Given the description of an element on the screen output the (x, y) to click on. 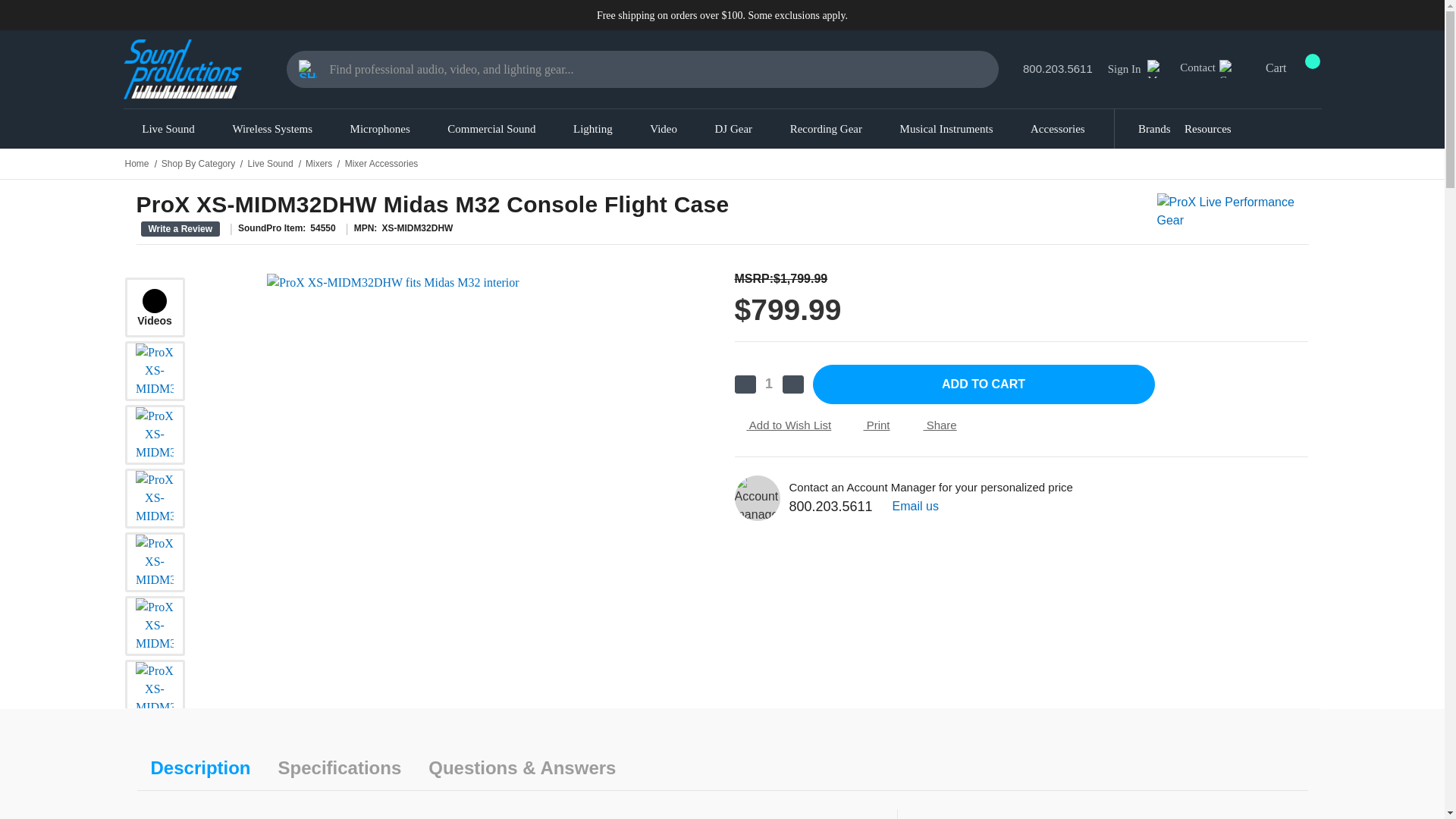
My Account (1155, 68)
Shopping Cart (307, 68)
SEARCH (307, 68)
Contact SoundPro (1228, 68)
Live Sound (168, 128)
Contact (1217, 68)
Add to Cart (983, 384)
Sound Productions (181, 69)
Write a Review (180, 228)
